Given the description of an element on the screen output the (x, y) to click on. 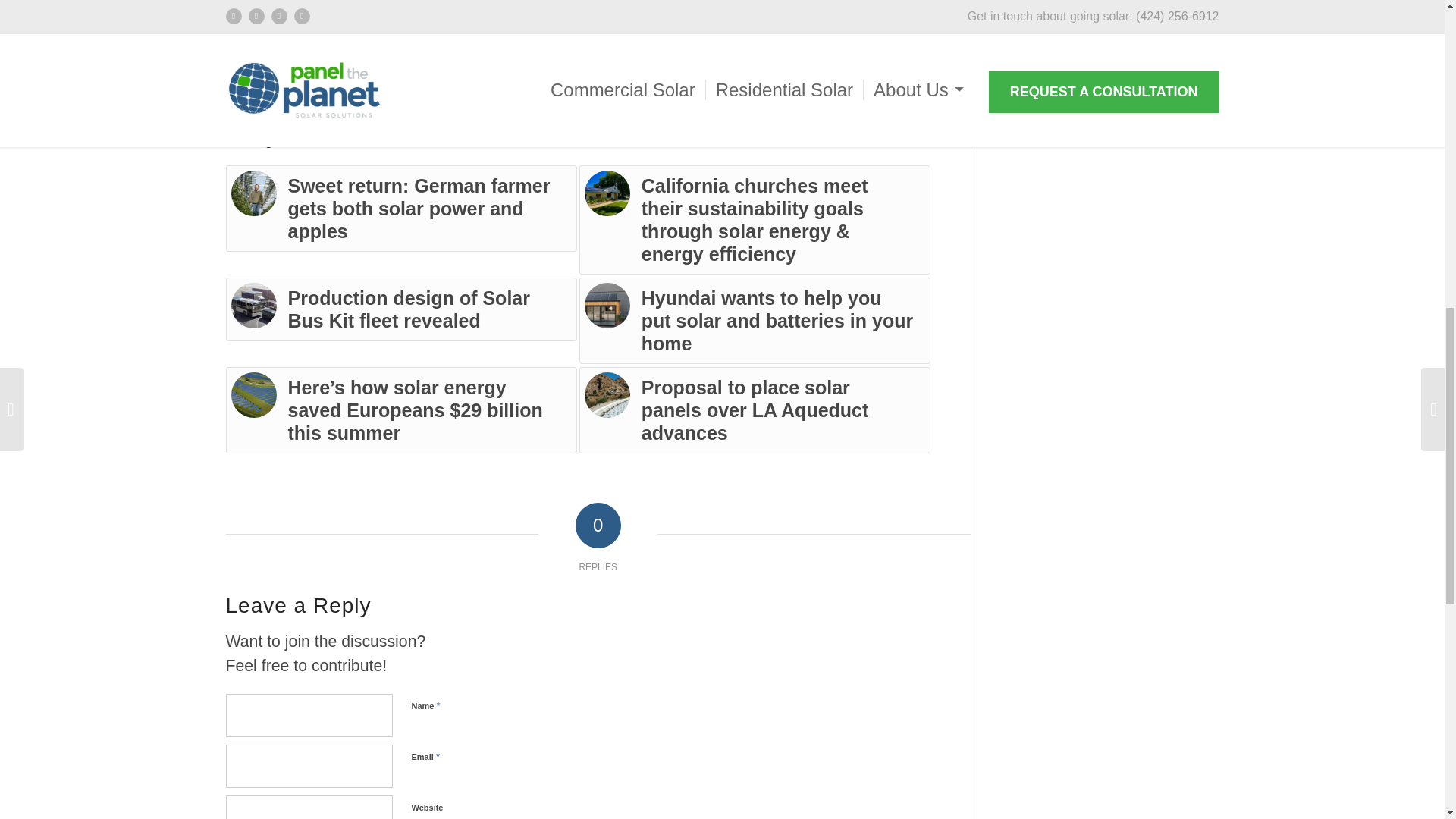
Sweet return: German farmer gets both solar power and apples (400, 208)
Production design of Solar Bus Kit fleet revealed (400, 309)
Proposal to place solar panels over LA Aqueduct advances (754, 409)
